Given the description of an element on the screen output the (x, y) to click on. 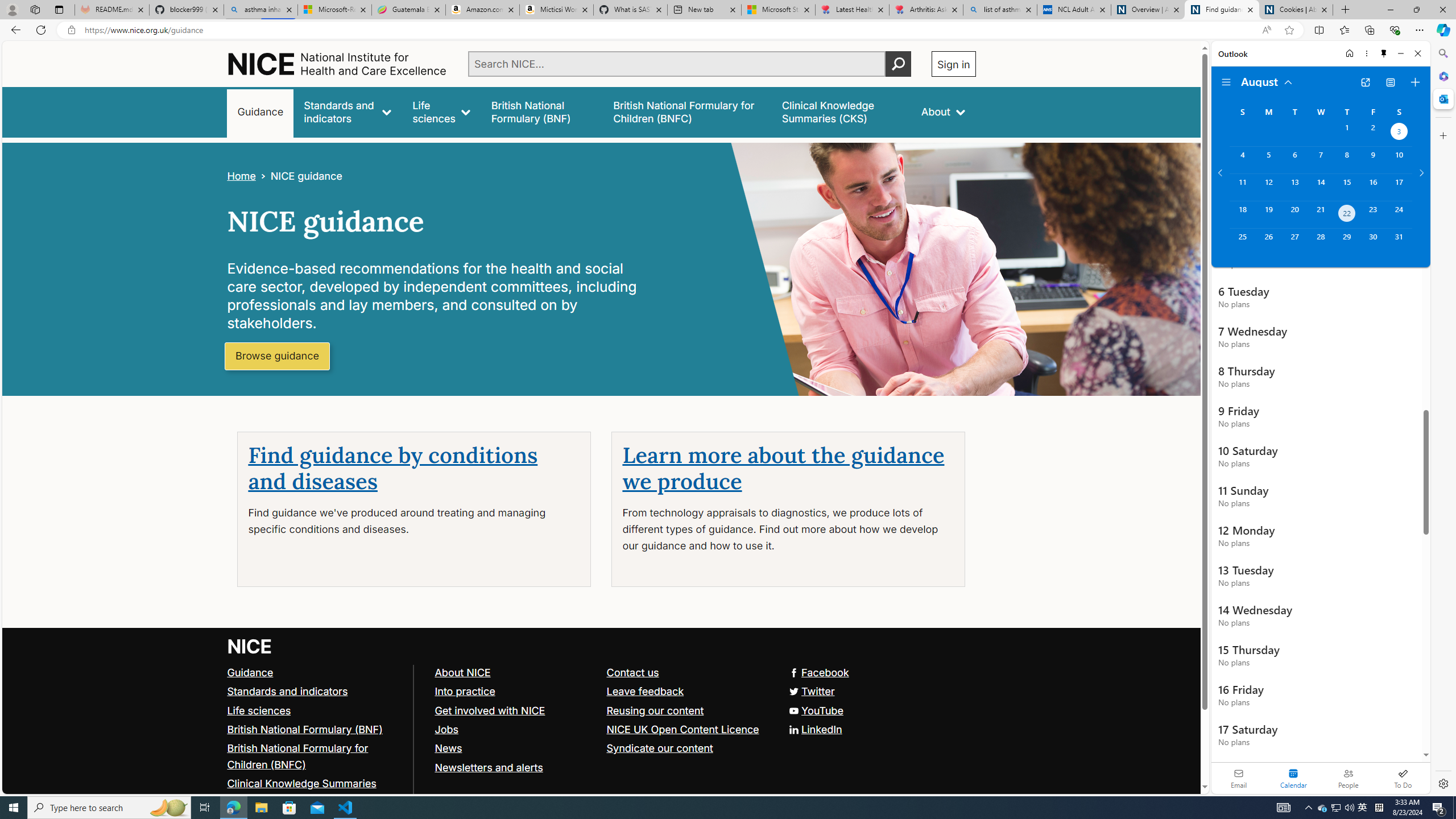
YouTube (815, 710)
Friday, August 16, 2024.  (1372, 186)
LinkedIn (815, 729)
To Do (1402, 777)
Life sciences (315, 710)
Contact us (686, 672)
Jobs (445, 729)
British National Formulary for Children (BNFC) (315, 756)
Contact us (632, 671)
YouTube (601, 710)
Friday, August 23, 2024.  (1372, 214)
